Given the description of an element on the screen output the (x, y) to click on. 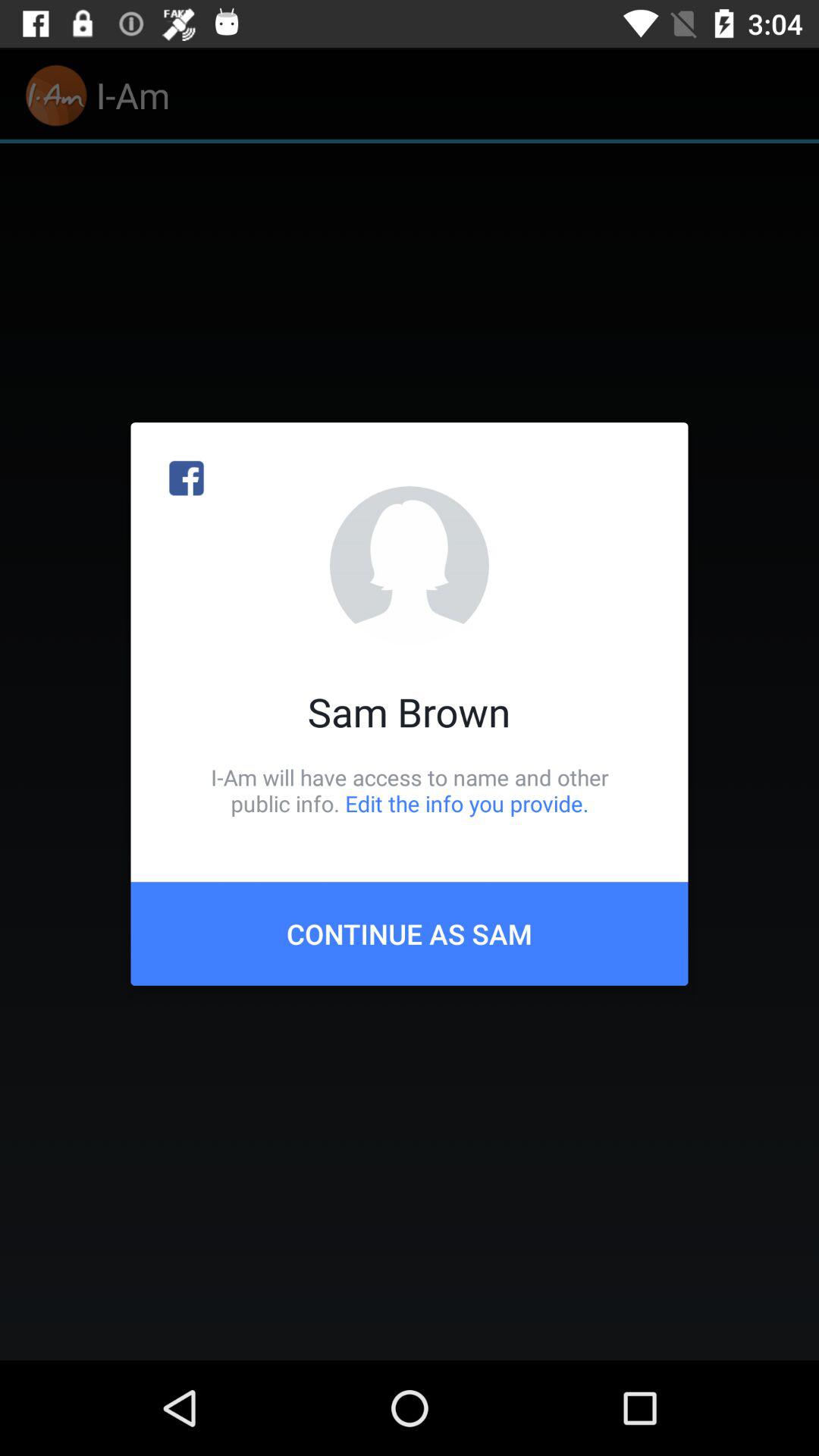
press i am will (409, 790)
